Given the description of an element on the screen output the (x, y) to click on. 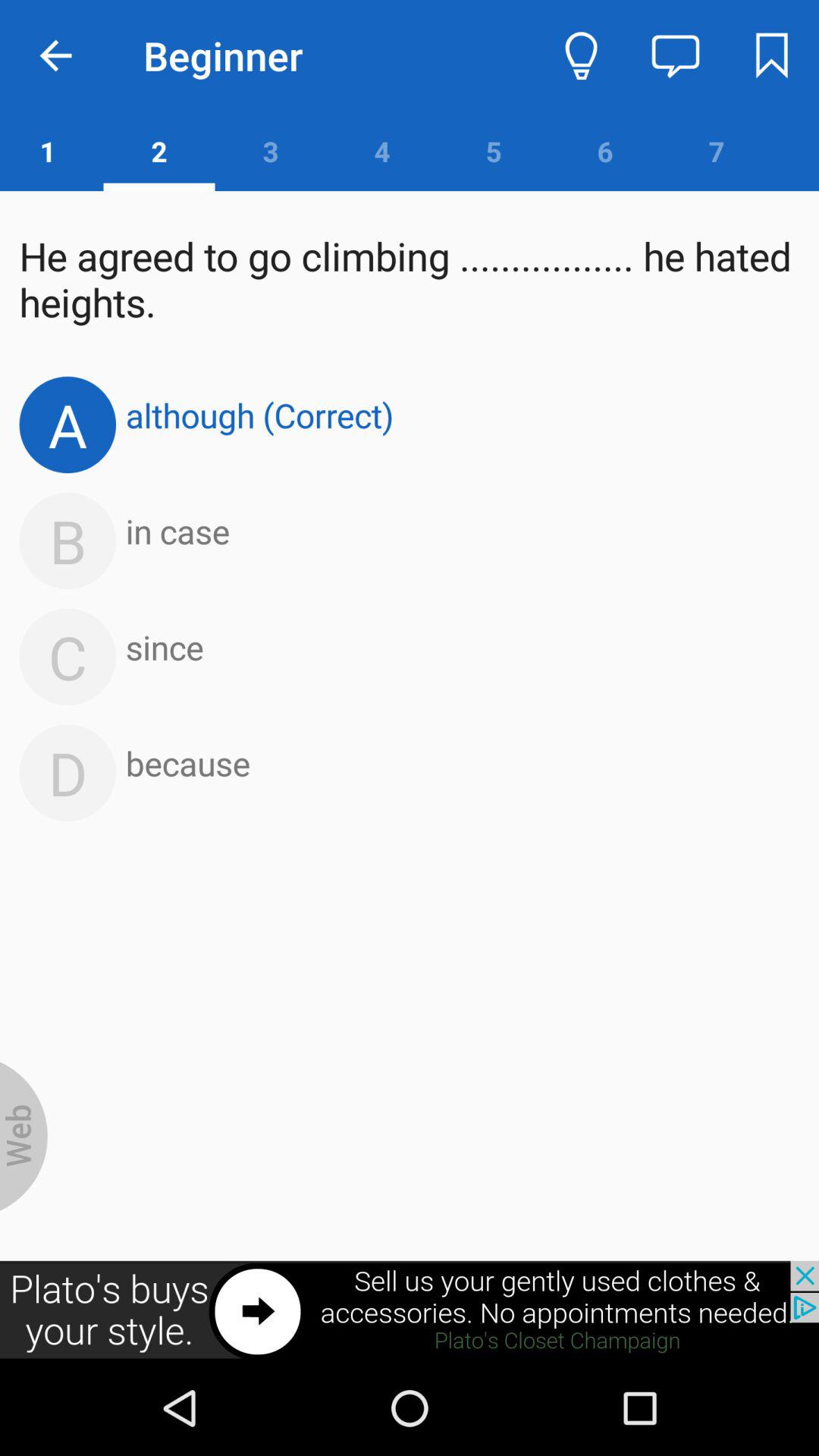
toggle web option (23, 1135)
